Given the description of an element on the screen output the (x, y) to click on. 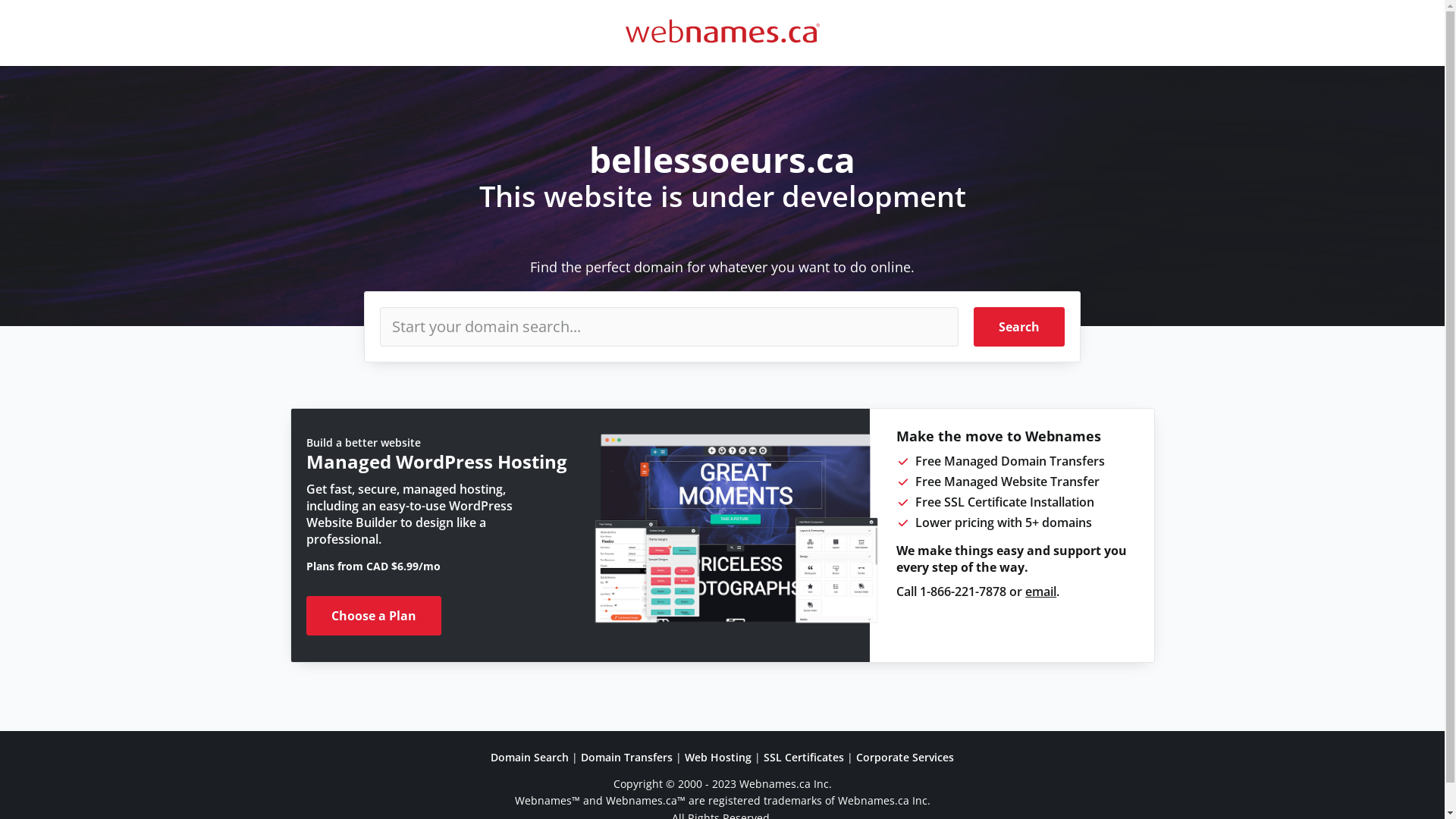
Corporate Services Element type: text (904, 756)
Domain Transfers Element type: text (626, 756)
Domain Search Element type: text (529, 756)
Search Element type: text (1018, 326)
1-866-221-7878 Element type: text (962, 591)
Web Hosting Element type: text (717, 756)
SSL Certificates Element type: text (803, 756)
Choose a Plan Element type: text (373, 615)
email Element type: text (1040, 591)
